Given the description of an element on the screen output the (x, y) to click on. 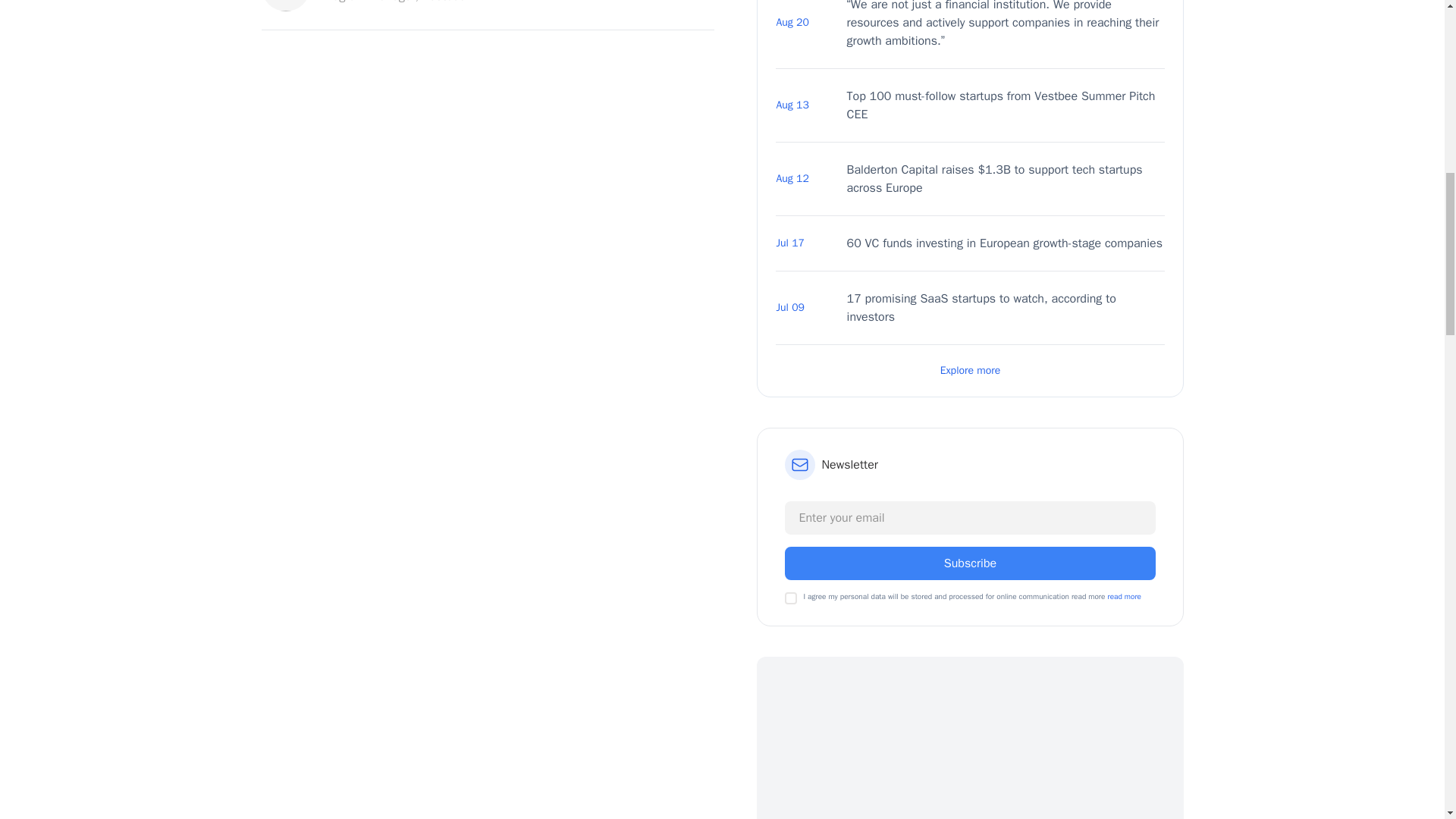
Subscribe (969, 563)
on (790, 598)
Top 100 must-follow startups from Vestbee Summer Pitch CEE (1005, 104)
Explore more (969, 369)
17 promising SaaS startups to watch, according to investors (1005, 307)
60 VC funds investing in European growth-stage companies (1005, 243)
read more (1123, 596)
